Given the description of an element on the screen output the (x, y) to click on. 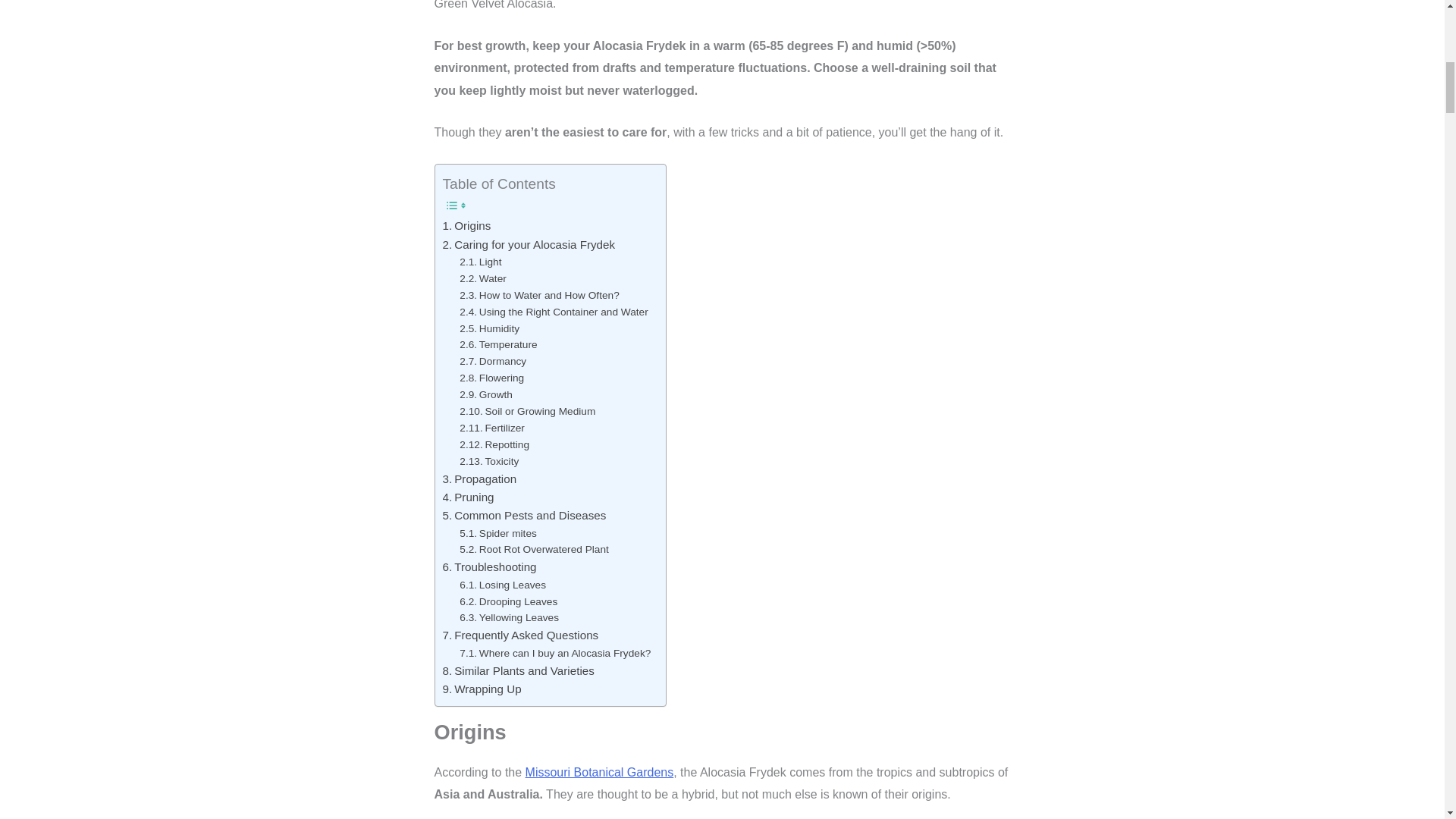
Temperature (498, 344)
Toxicity (489, 461)
Pruning (468, 497)
Repotting (494, 444)
Using the Right Container and Water (553, 312)
Light (480, 262)
Dormancy (492, 361)
Origins (467, 226)
Fertilizer (492, 428)
Humidity (489, 329)
Propagation (479, 479)
Water (483, 279)
How to Water and How Often? (539, 295)
Flowering (492, 378)
Caring for your Alocasia Frydek (528, 244)
